Given the description of an element on the screen output the (x, y) to click on. 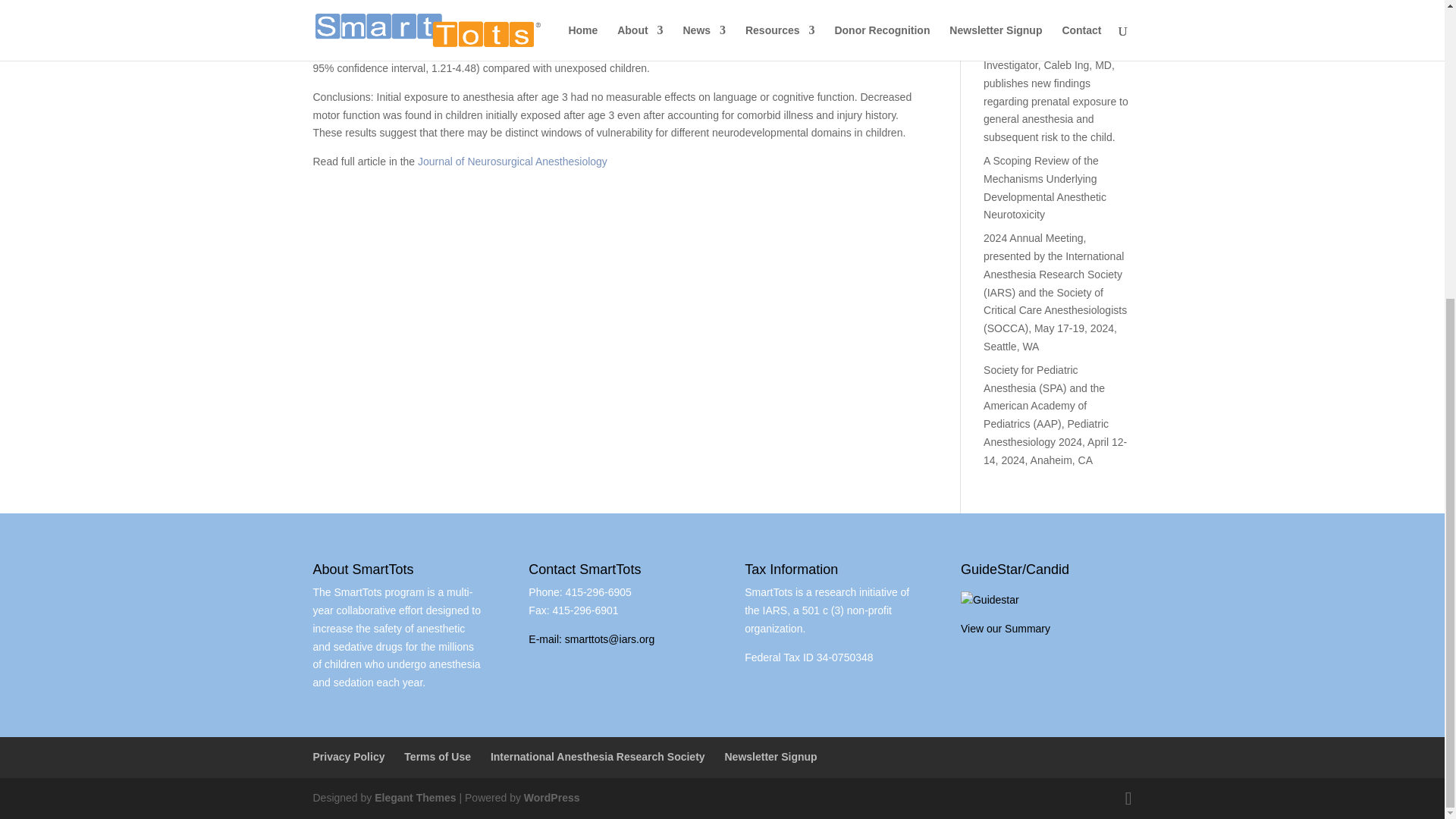
Premium WordPress Themes (414, 797)
